Given the description of an element on the screen output the (x, y) to click on. 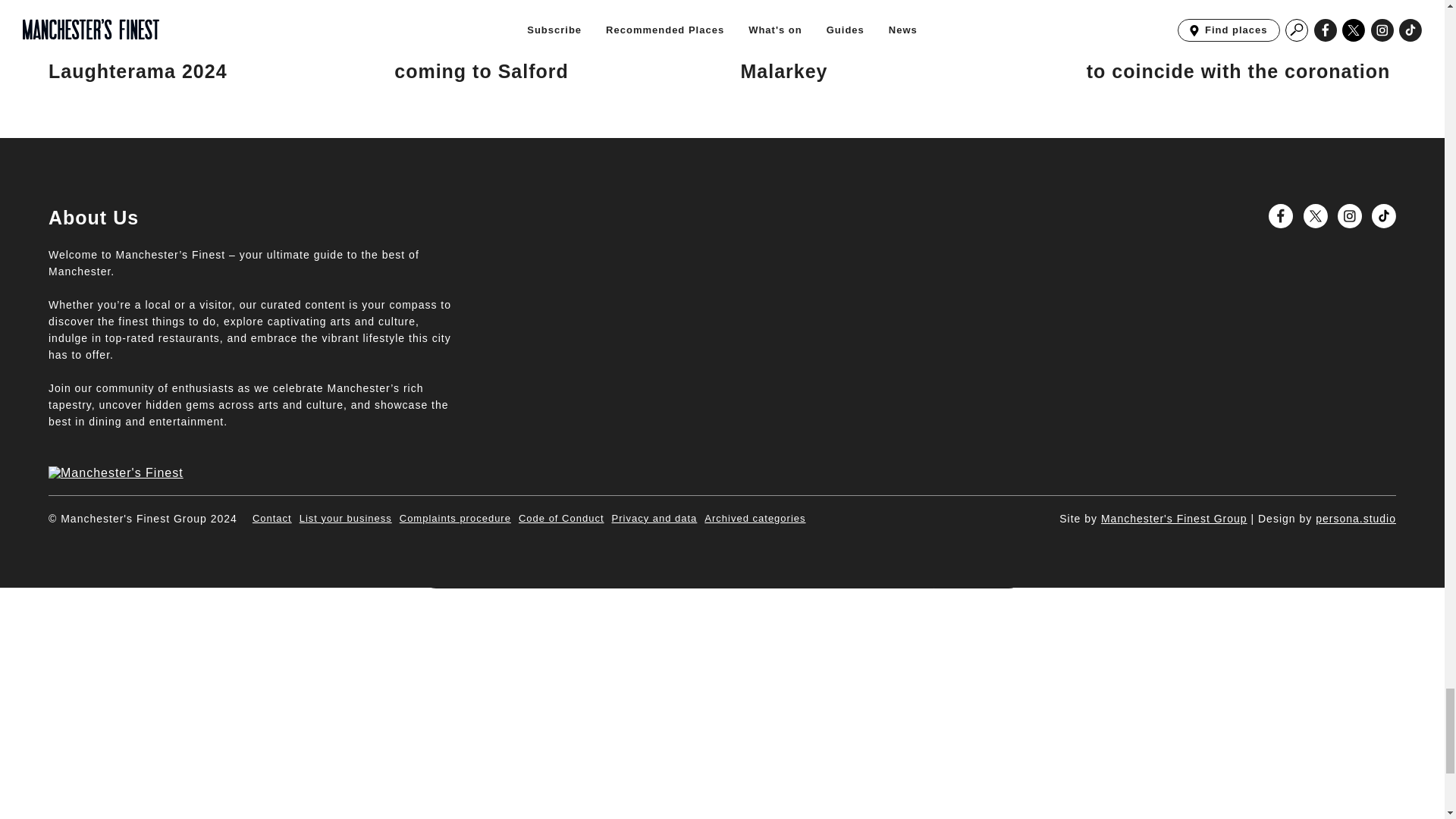
Go to Manchester's Finest X profile (1315, 215)
Go to Manchester's Finest TikTok profile (1383, 215)
Go to Manchester's Finest Instagram profile (1349, 215)
Go to Manchester's Finest Facebook page (1280, 215)
